Given the description of an element on the screen output the (x, y) to click on. 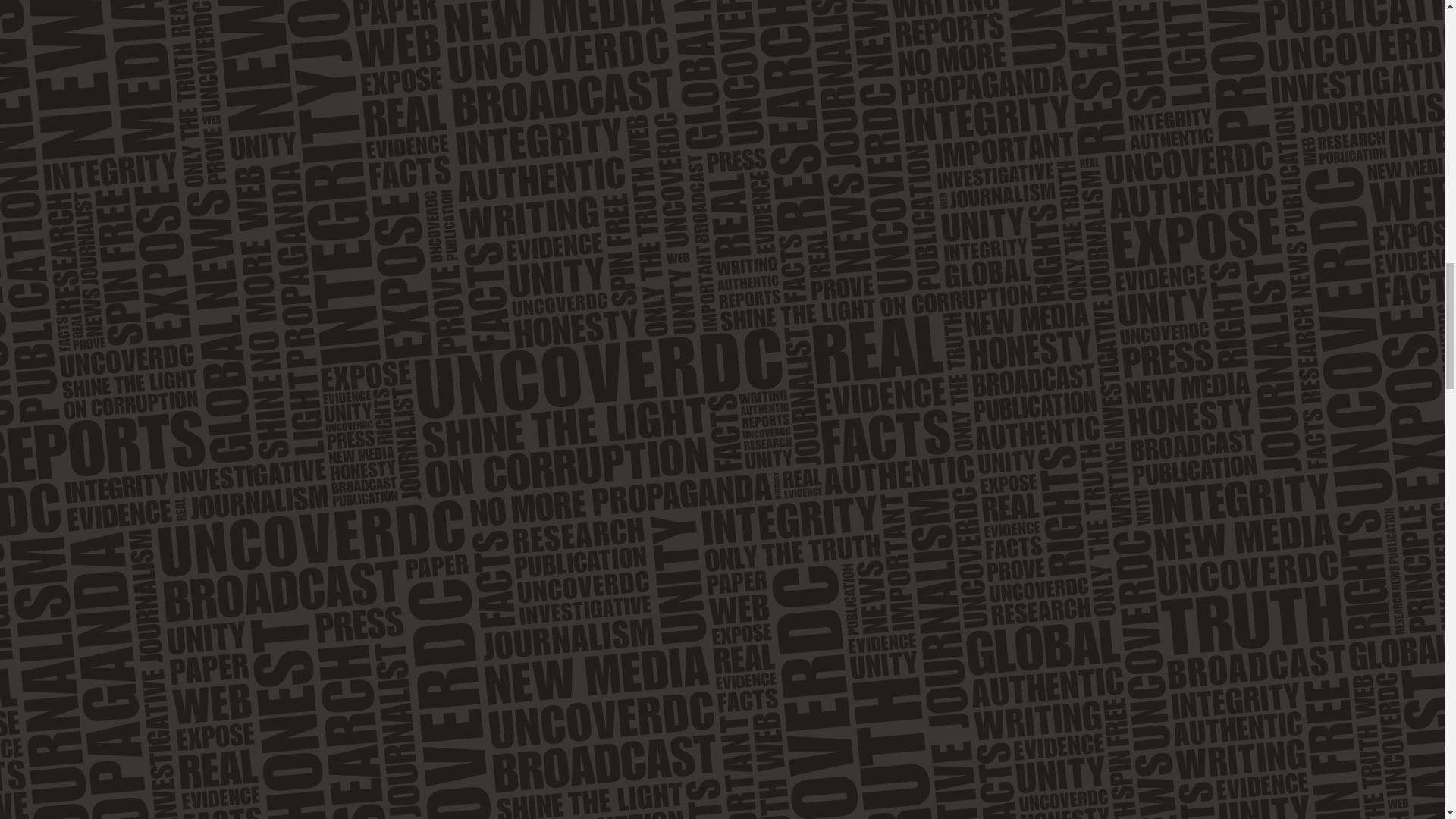
682,770 (30, 150)
report (165, 2)
investigatory (949, 642)
